Given the description of an element on the screen output the (x, y) to click on. 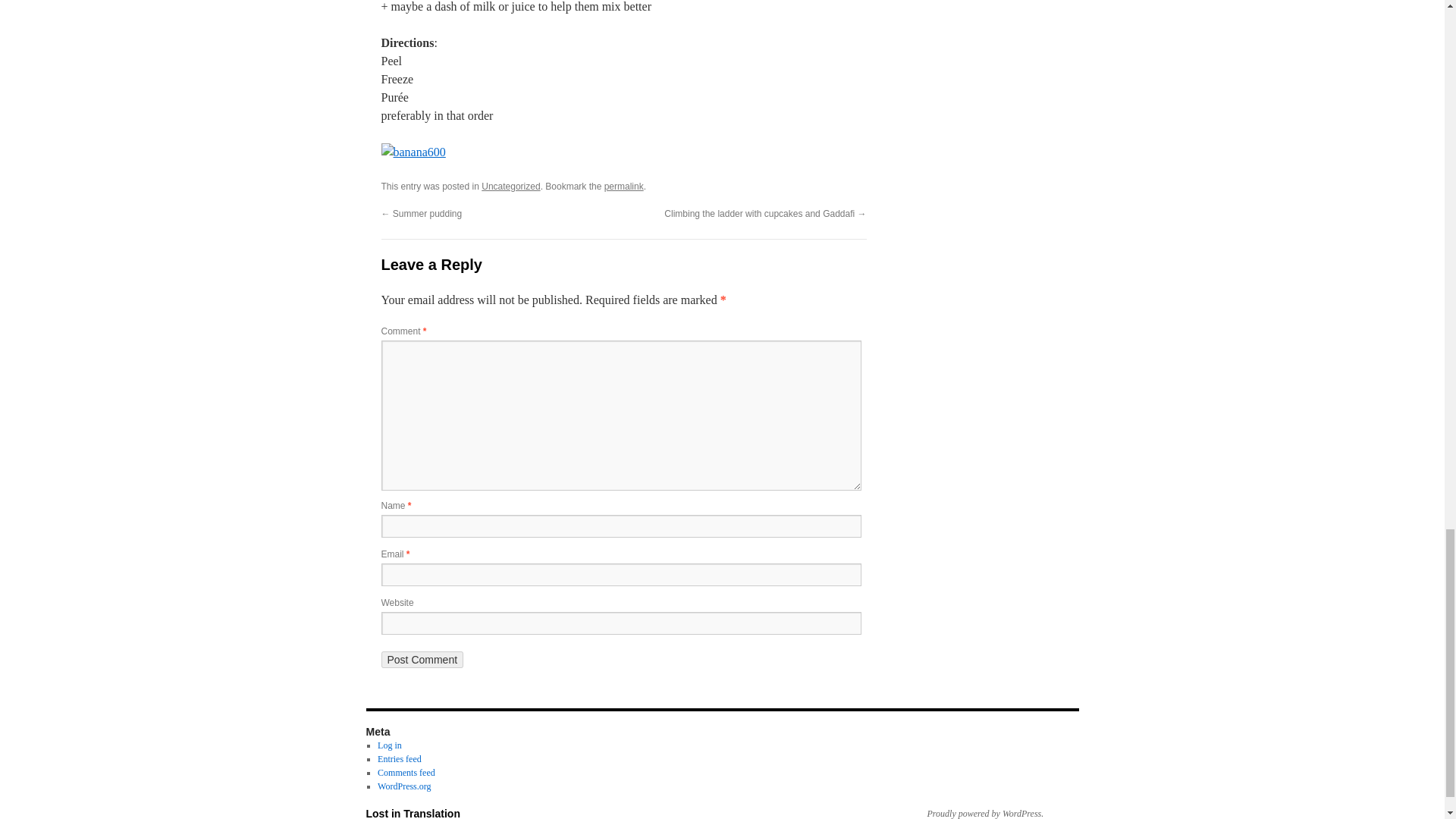
Permalink to Beer of the root (623, 185)
permalink (623, 185)
Uncategorized (510, 185)
Post Comment (421, 659)
Post Comment (421, 659)
